Given the description of an element on the screen output the (x, y) to click on. 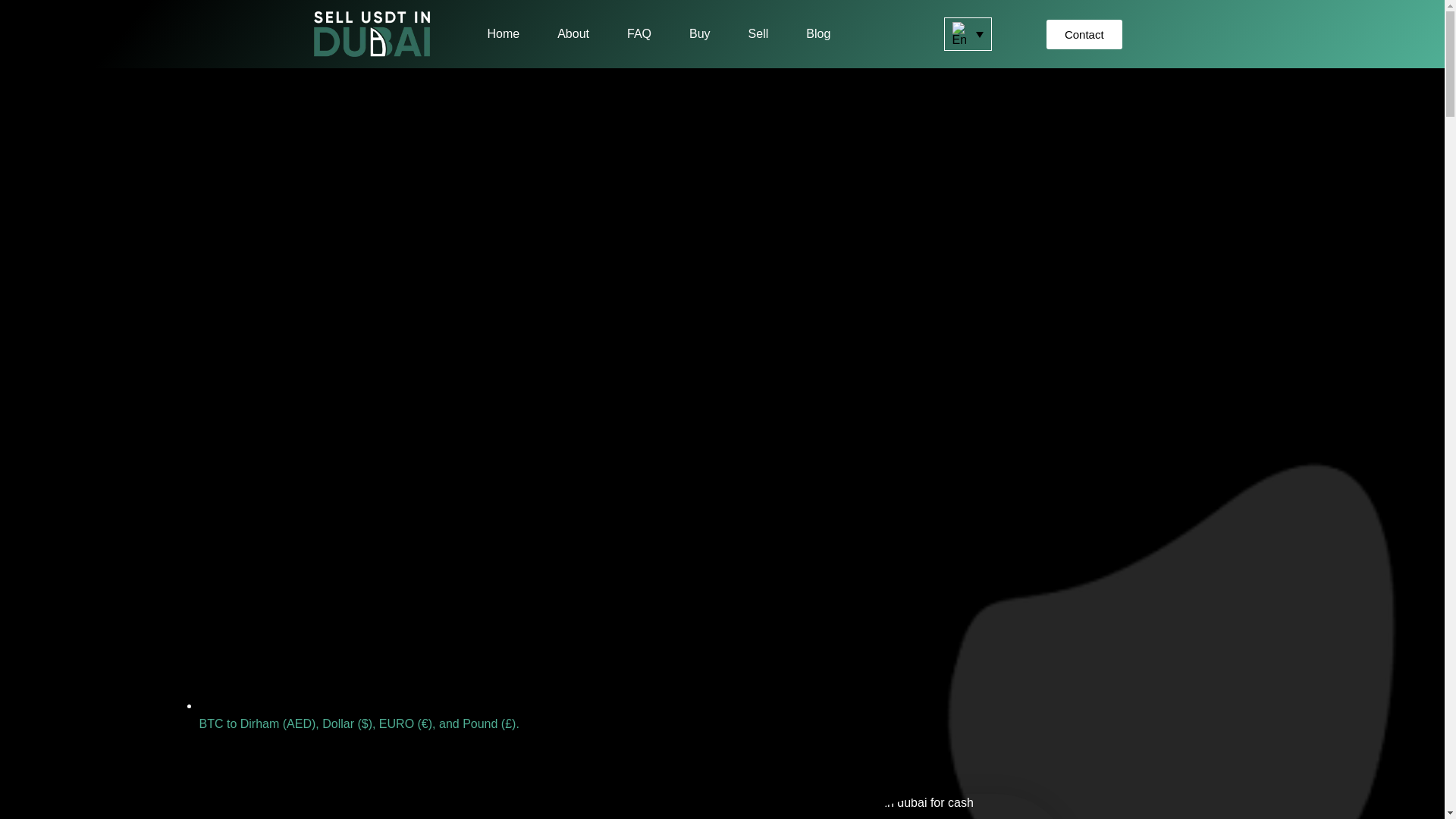
Buy (699, 33)
About (573, 33)
Sell (758, 33)
Home (502, 33)
Contact (1084, 34)
FAQ (638, 33)
Sell Btc In Dubai For Cash (900, 806)
Blog (817, 33)
